Given the description of an element on the screen output the (x, y) to click on. 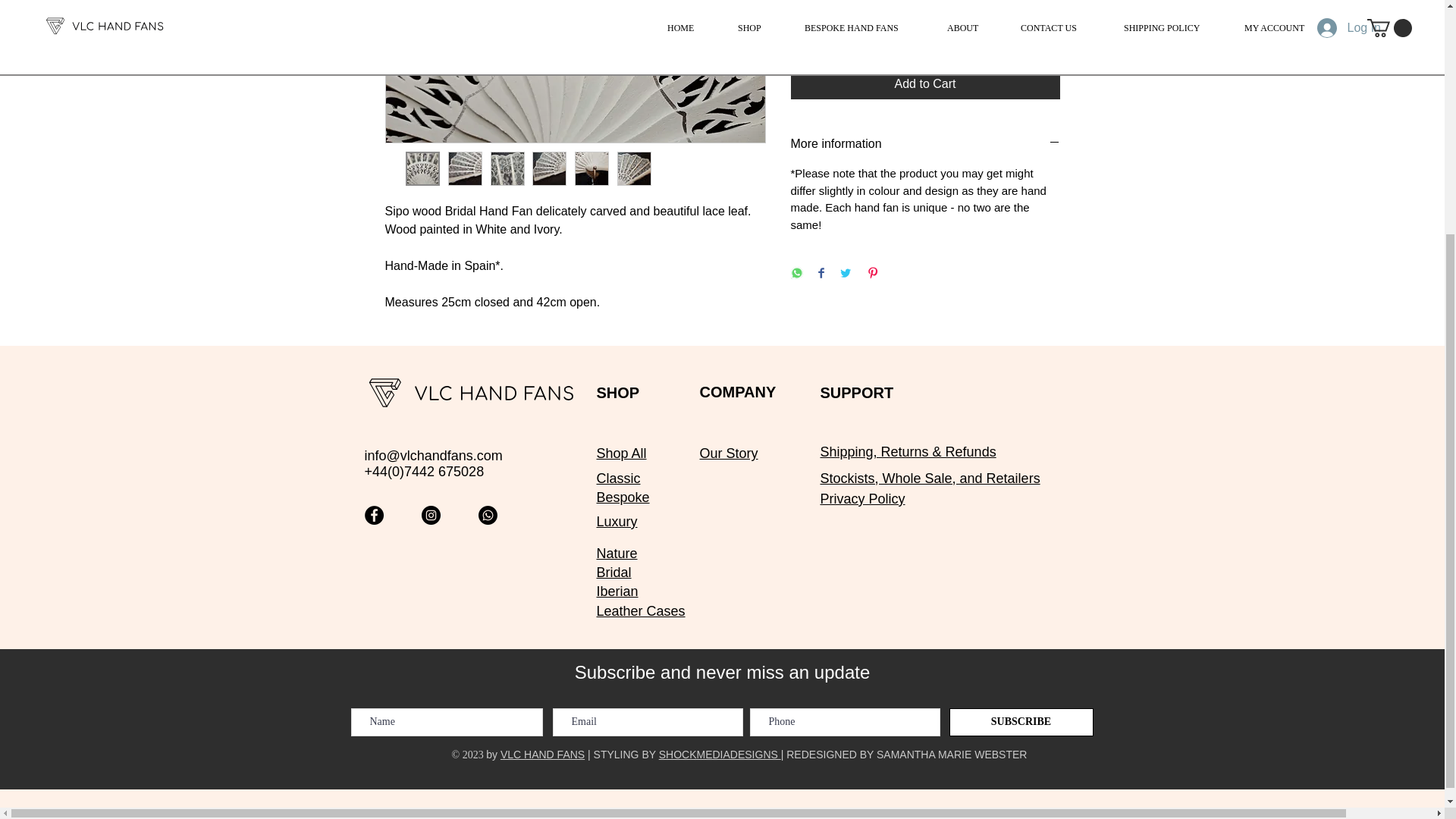
Add to Cart (924, 83)
Bespoke (622, 497)
1 (818, 29)
Classic (617, 478)
Our Story (727, 453)
Shop All (620, 453)
More information (924, 143)
